Given the description of an element on the screen output the (x, y) to click on. 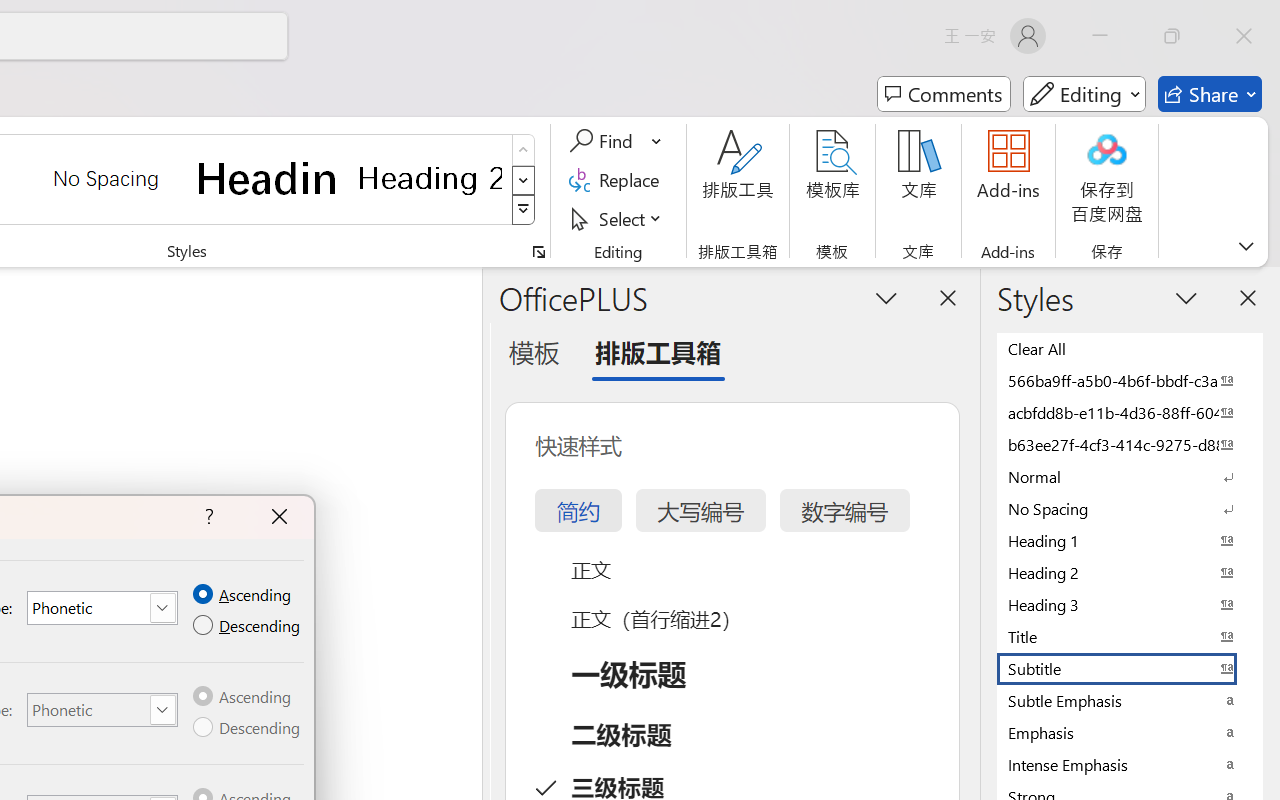
Task Pane Options (886, 297)
Heading 2 (429, 178)
Class: NetUIImage (523, 210)
Row Down (523, 180)
Minimize (1099, 36)
b63ee27f-4cf3-414c-9275-d88e3f90795e (1130, 444)
Replace... (617, 179)
Normal (1130, 476)
Row up (523, 150)
